Given the description of an element on the screen output the (x, y) to click on. 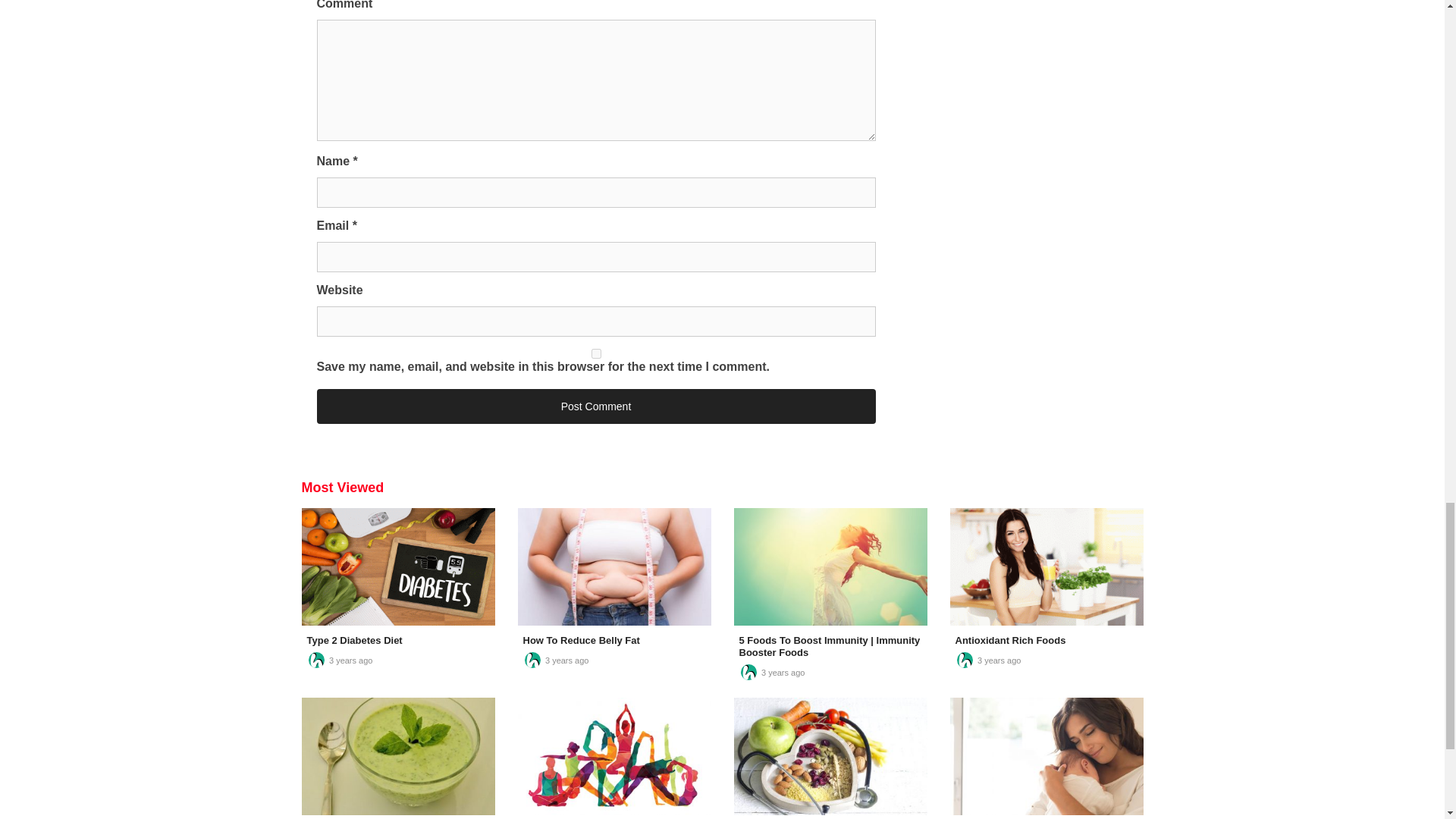
Post Comment (596, 406)
yes (596, 353)
Post Comment (596, 406)
